Given the description of an element on the screen output the (x, y) to click on. 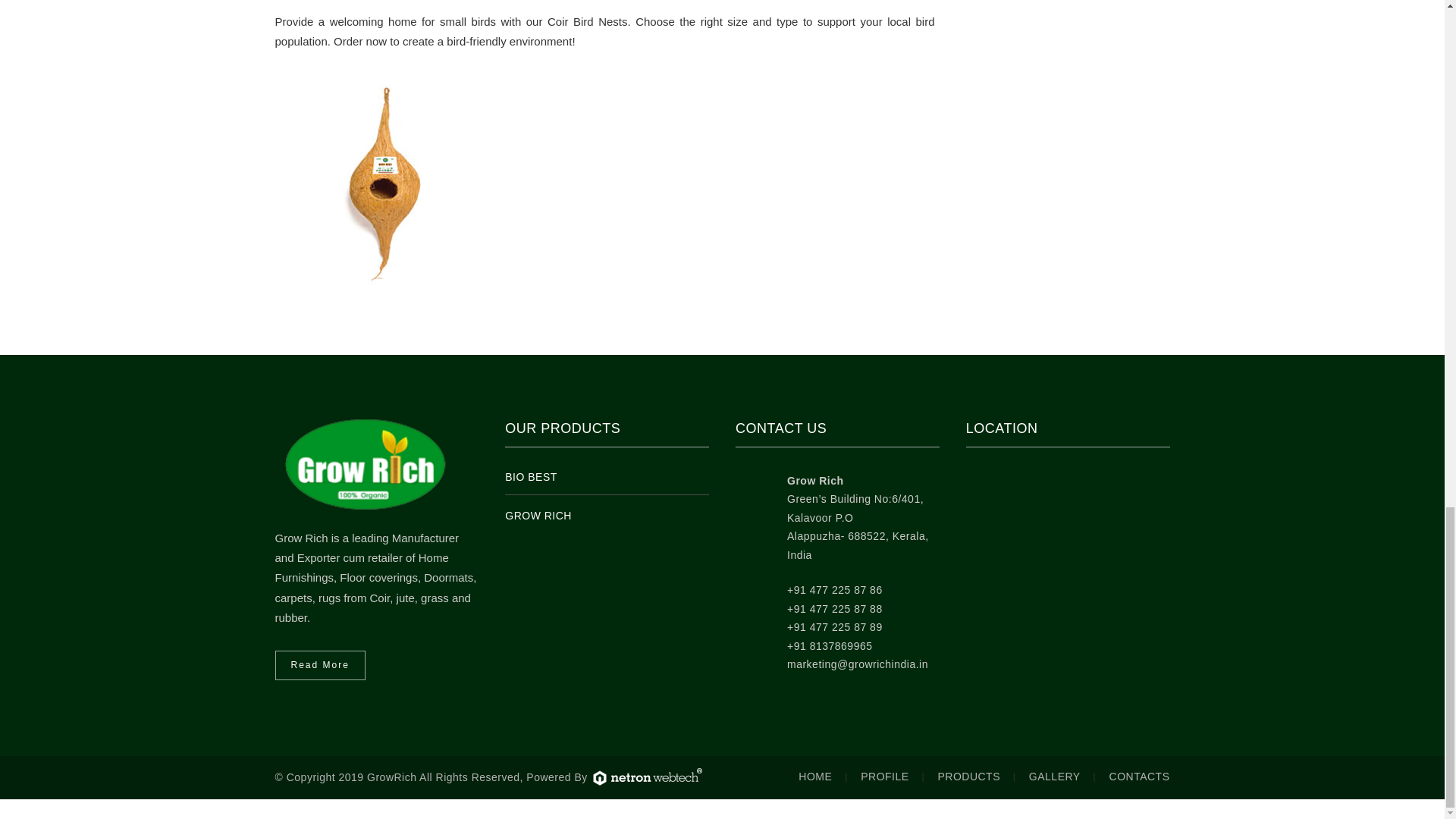
HOME (814, 776)
Read More (320, 665)
PROFILE (884, 776)
PRODUCTS (968, 776)
BIO BEST (531, 476)
GROW RICH (538, 515)
